Given the description of an element on the screen output the (x, y) to click on. 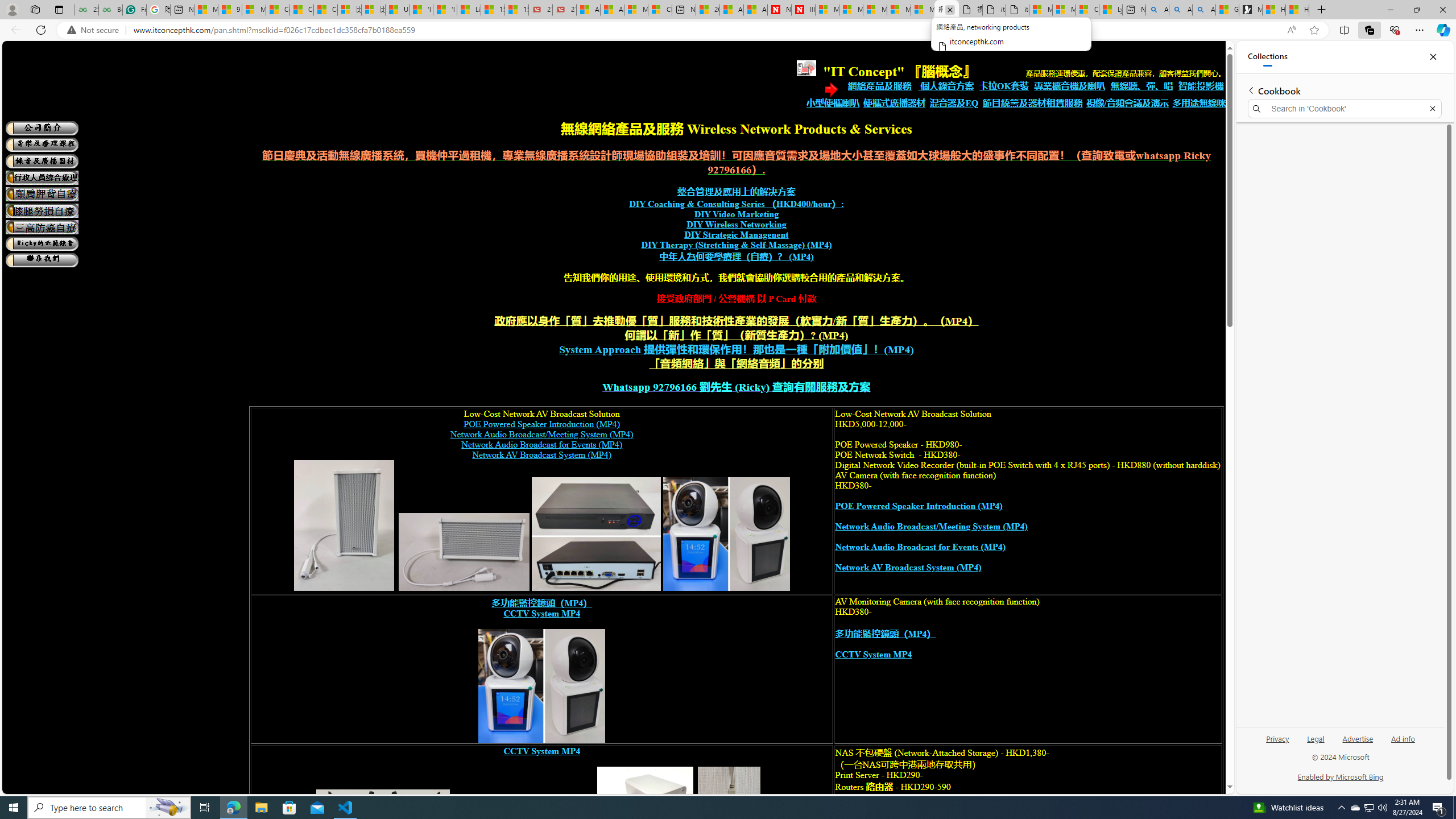
POE Powered Speaker Introduction (MP4) (918, 506)
Not secure (95, 29)
Back to list of collections (1250, 90)
CCTV System MP4 (541, 751)
